Given the description of an element on the screen output the (x, y) to click on. 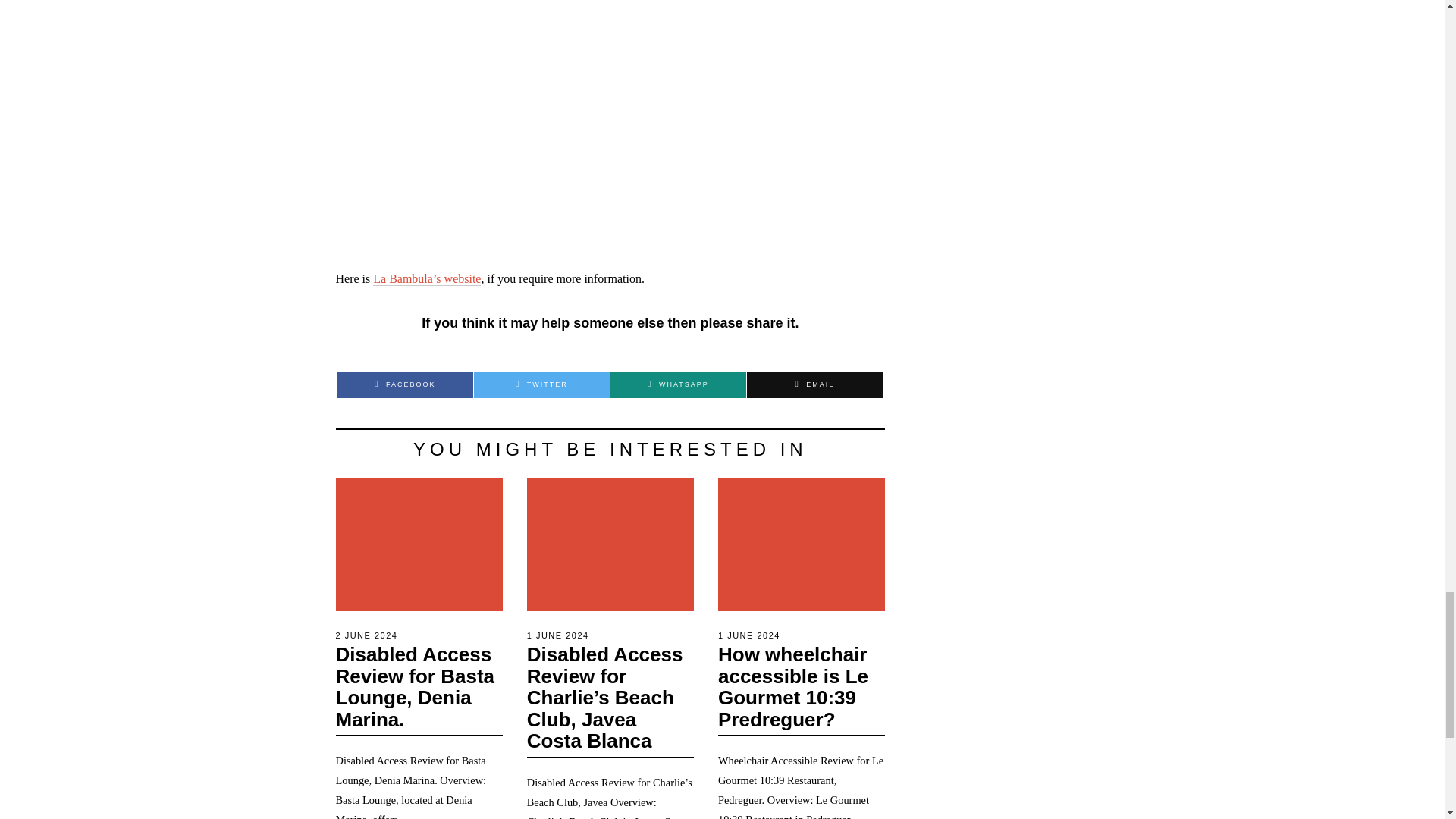
Facebook (405, 384)
Twitter (542, 384)
Email (814, 384)
Whatsapp (677, 384)
